Given the description of an element on the screen output the (x, y) to click on. 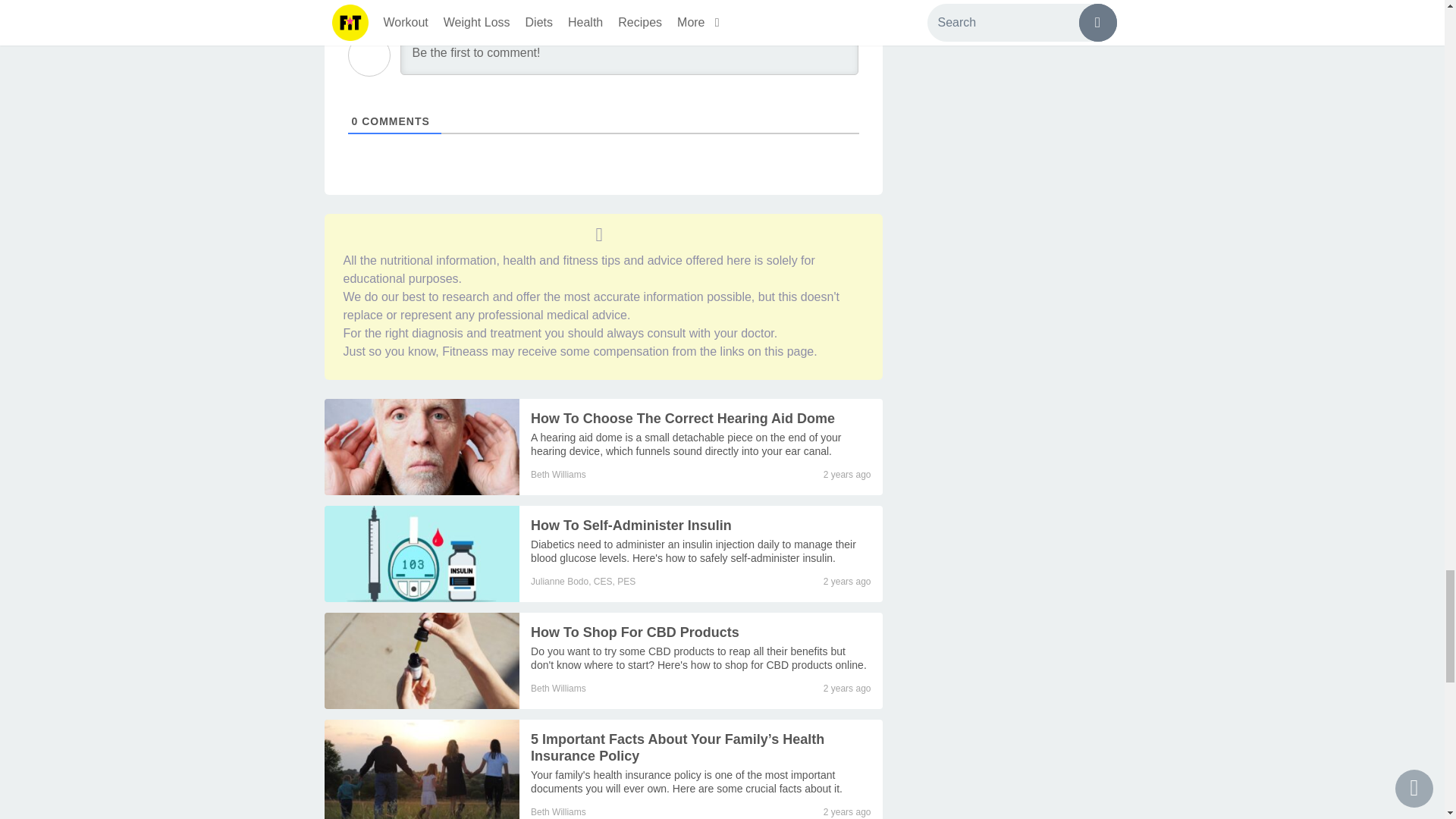
How To Choose The Correct Hearing Aid Dome (421, 446)
How To Self-Administer Insulin (421, 553)
How To Self-Administer Insulin (631, 525)
How To Choose The Correct Hearing Aid Dome (686, 444)
How To Shop For CBD Products (698, 657)
How To Shop For CBD Products (421, 660)
How To Shop For CBD Products (635, 631)
How To Choose The Correct Hearing Aid Dome (682, 418)
How To Self-Administer Insulin (693, 551)
